Given the description of an element on the screen output the (x, y) to click on. 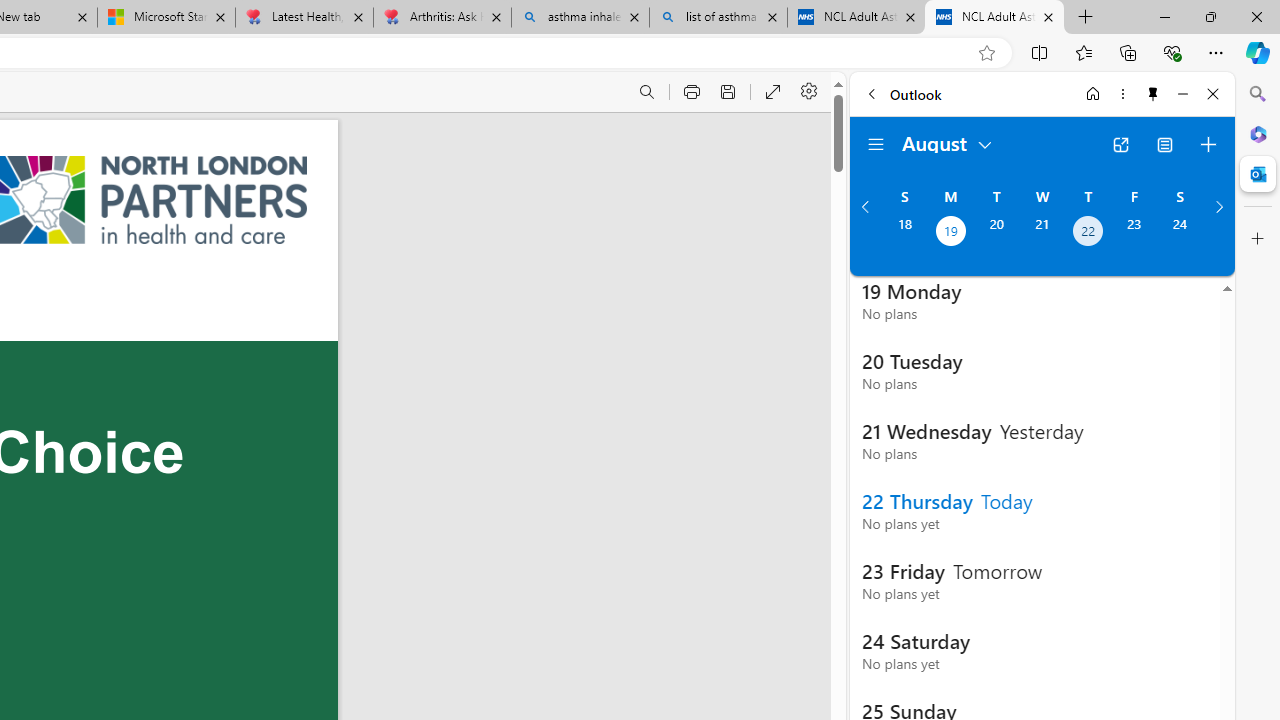
August (948, 141)
Open in new tab (1120, 144)
Folder navigation (876, 144)
Print (Ctrl+P) (692, 92)
View Switcher. Current view is Agenda view (1165, 144)
Settings and more (809, 92)
